Given the description of an element on the screen output the (x, y) to click on. 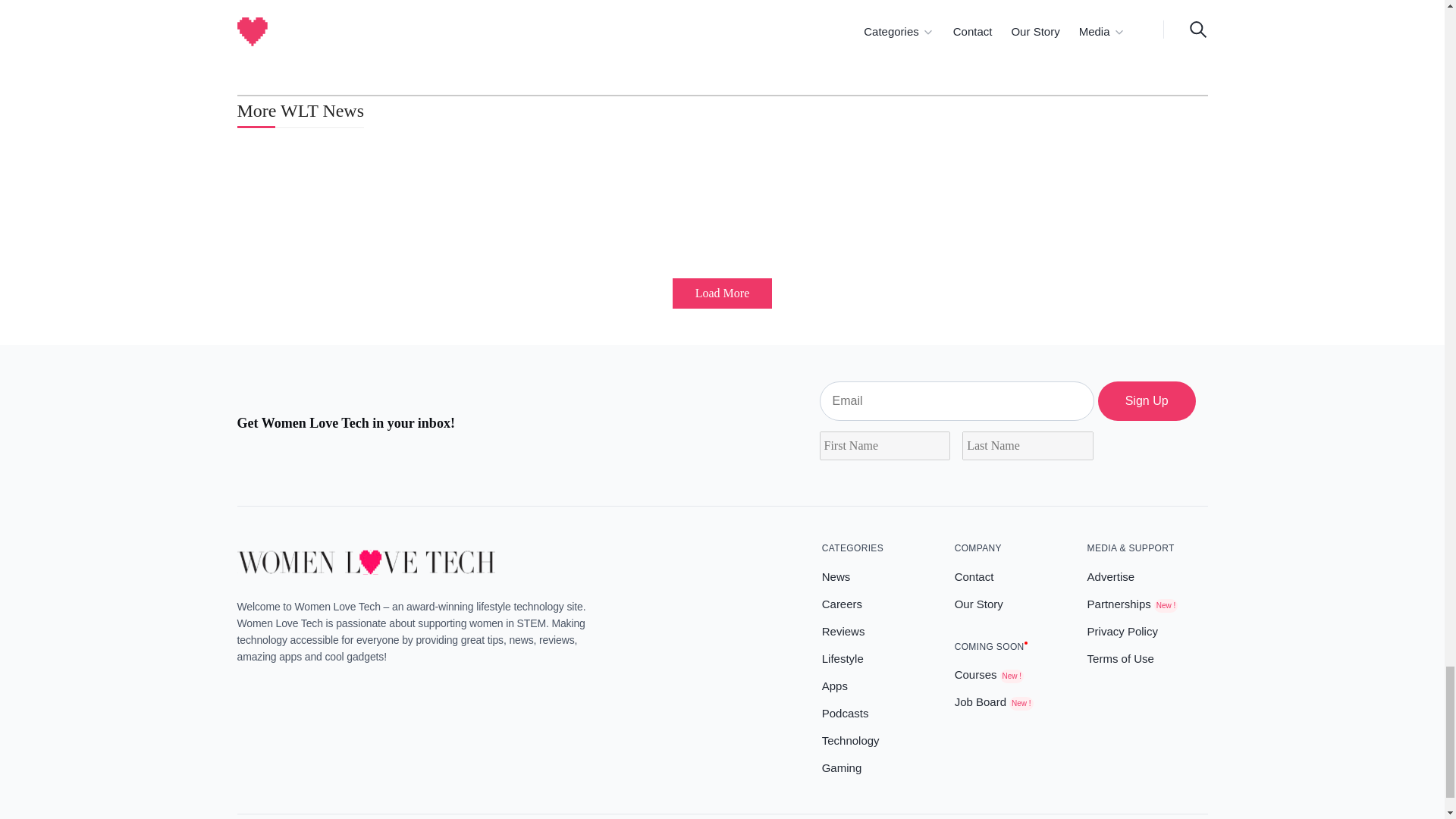
Sign Up (1146, 400)
